Given the description of an element on the screen output the (x, y) to click on. 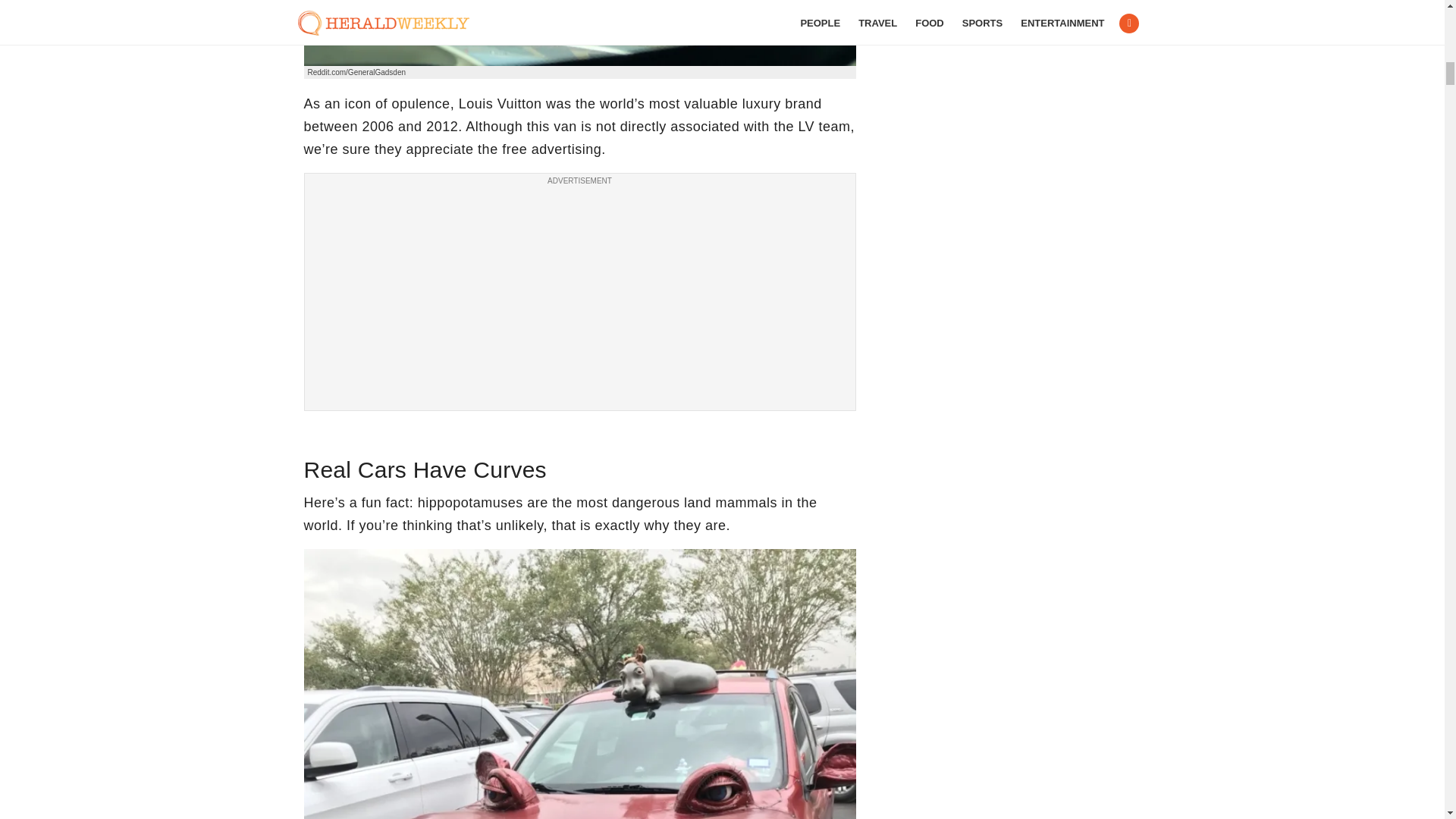
A Little Bit of Louis (579, 33)
